Given the description of an element on the screen output the (x, y) to click on. 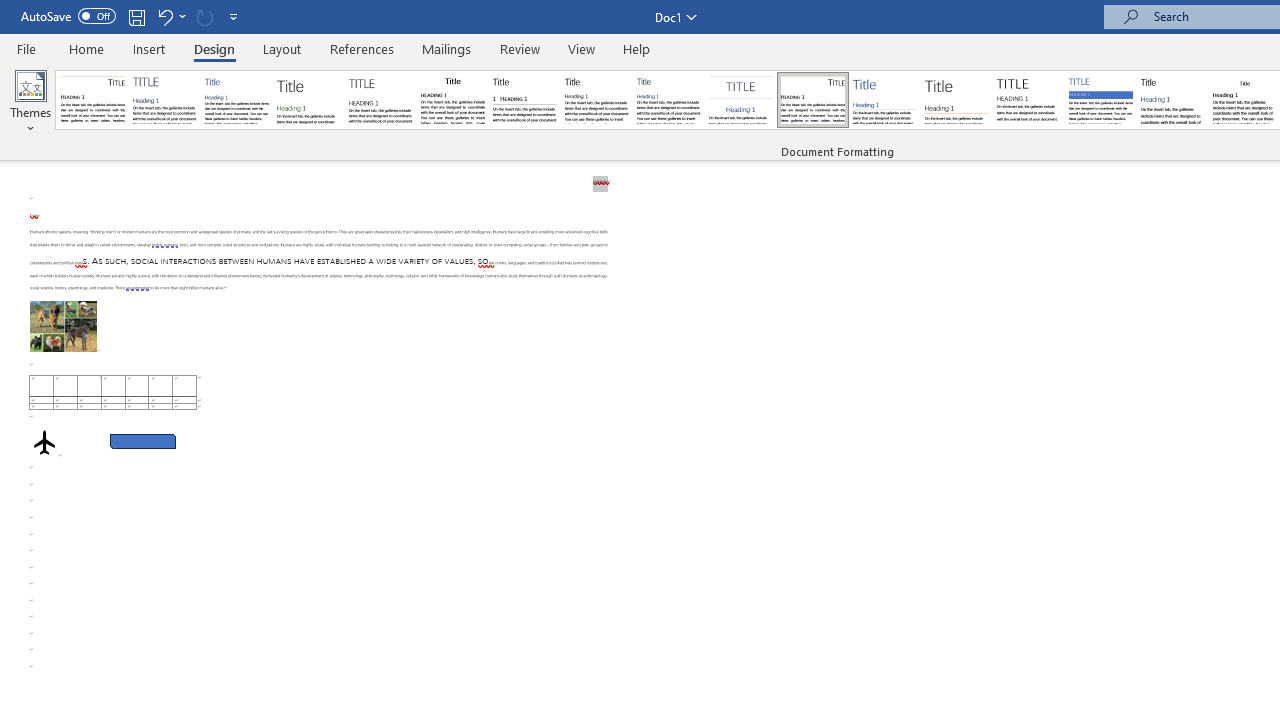
Centered (740, 100)
Themes (30, 102)
Lines (Simple) (884, 100)
Basic (Stylish) (308, 100)
Undo Apply Quick Style Set (164, 15)
Document (93, 100)
Black & White (Word 2013) (596, 100)
Black & White (Capitalized) (381, 100)
